Given the description of an element on the screen output the (x, y) to click on. 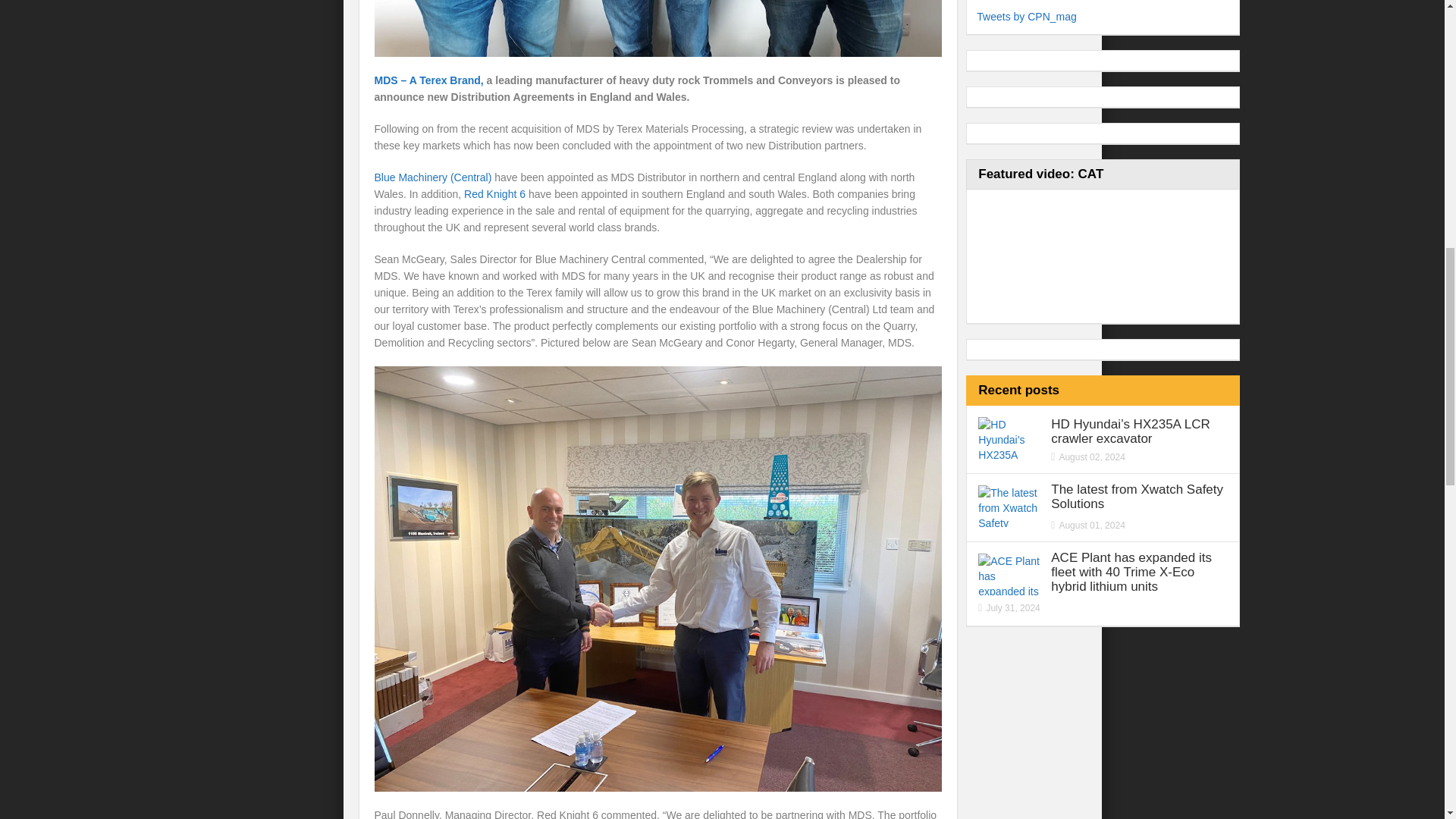
YouTube video player (1090, 255)
Red Knight 6 (494, 193)
